Given the description of an element on the screen output the (x, y) to click on. 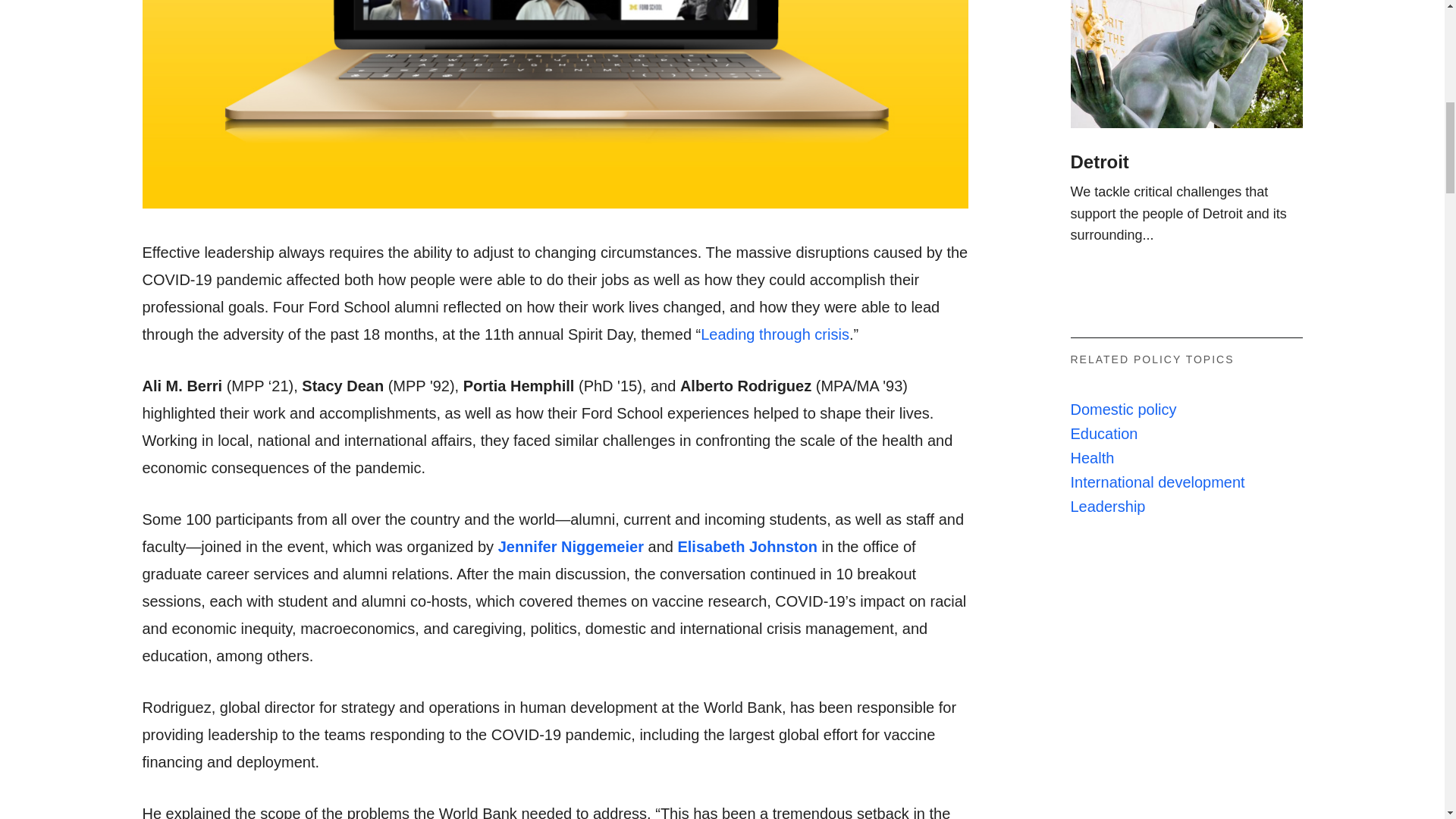
Leading through crisis (774, 379)
Jennifer Niggemeier (570, 591)
Elisabeth Johnston (746, 591)
